Given the description of an element on the screen output the (x, y) to click on. 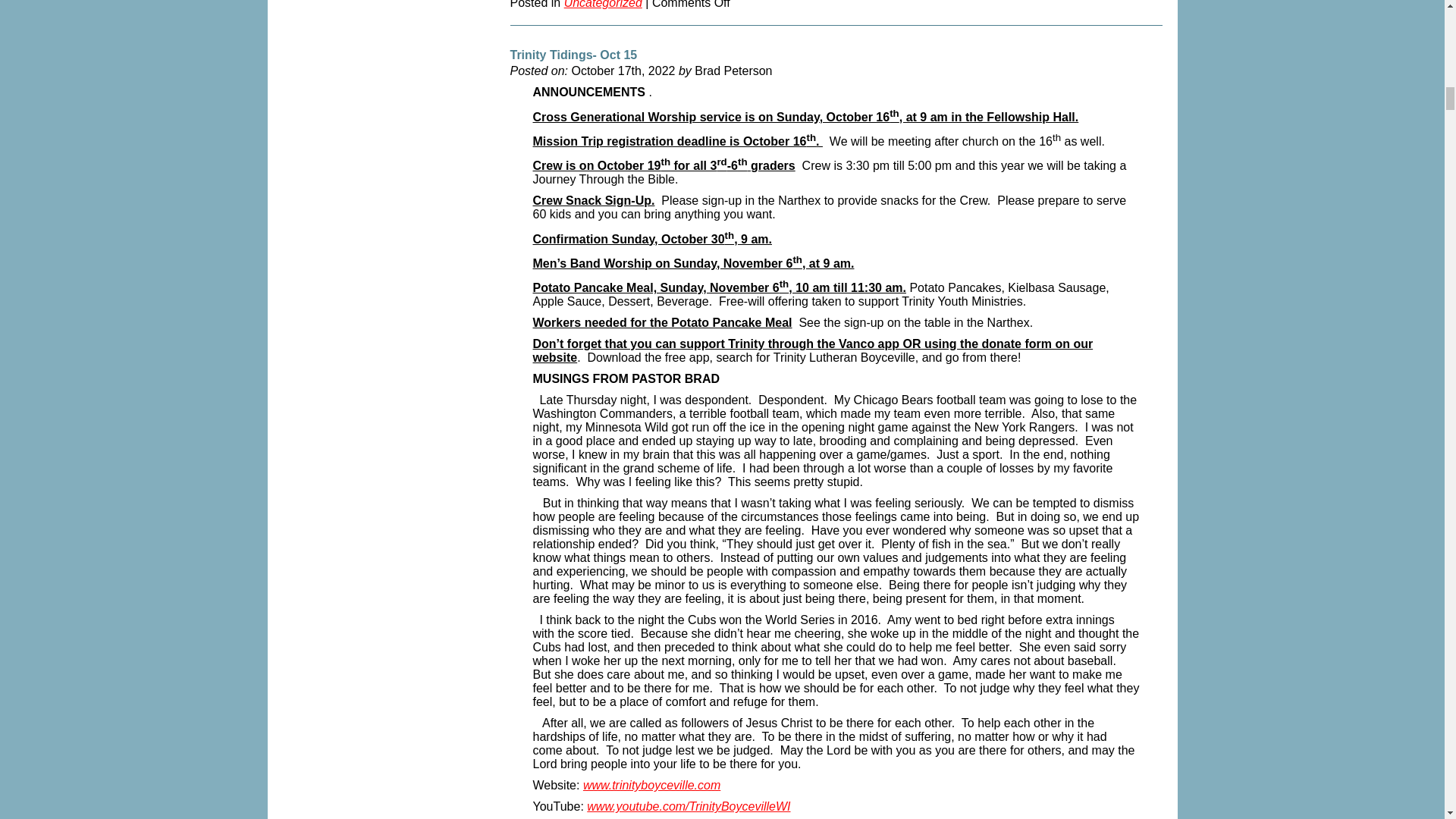
www.trinityboyceville.com (651, 787)
Trinity Tidings- Oct 15 (573, 57)
Uncategorized (603, 7)
